Given the description of an element on the screen output the (x, y) to click on. 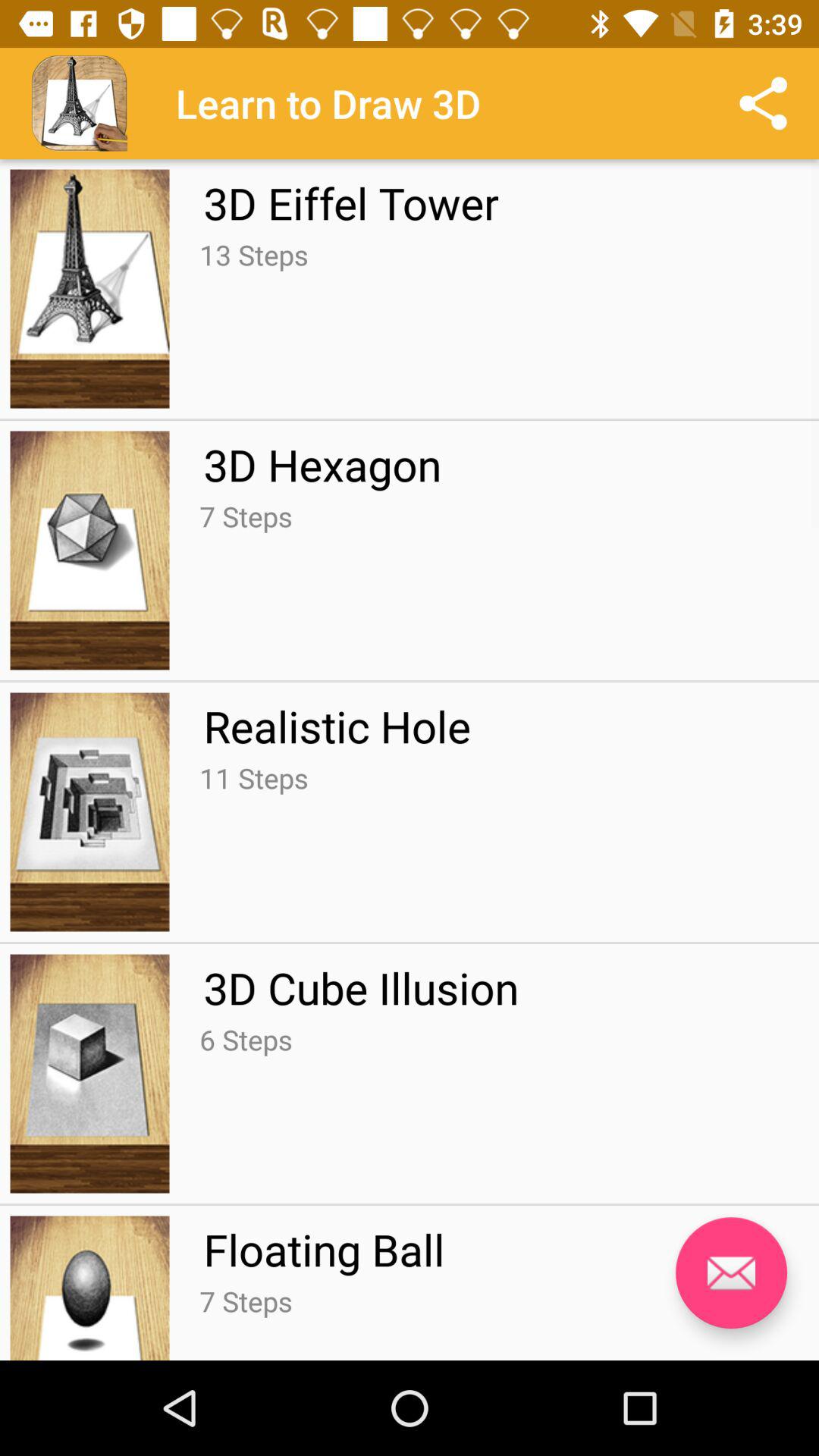
select item below 6 steps item (323, 1248)
